Given the description of an element on the screen output the (x, y) to click on. 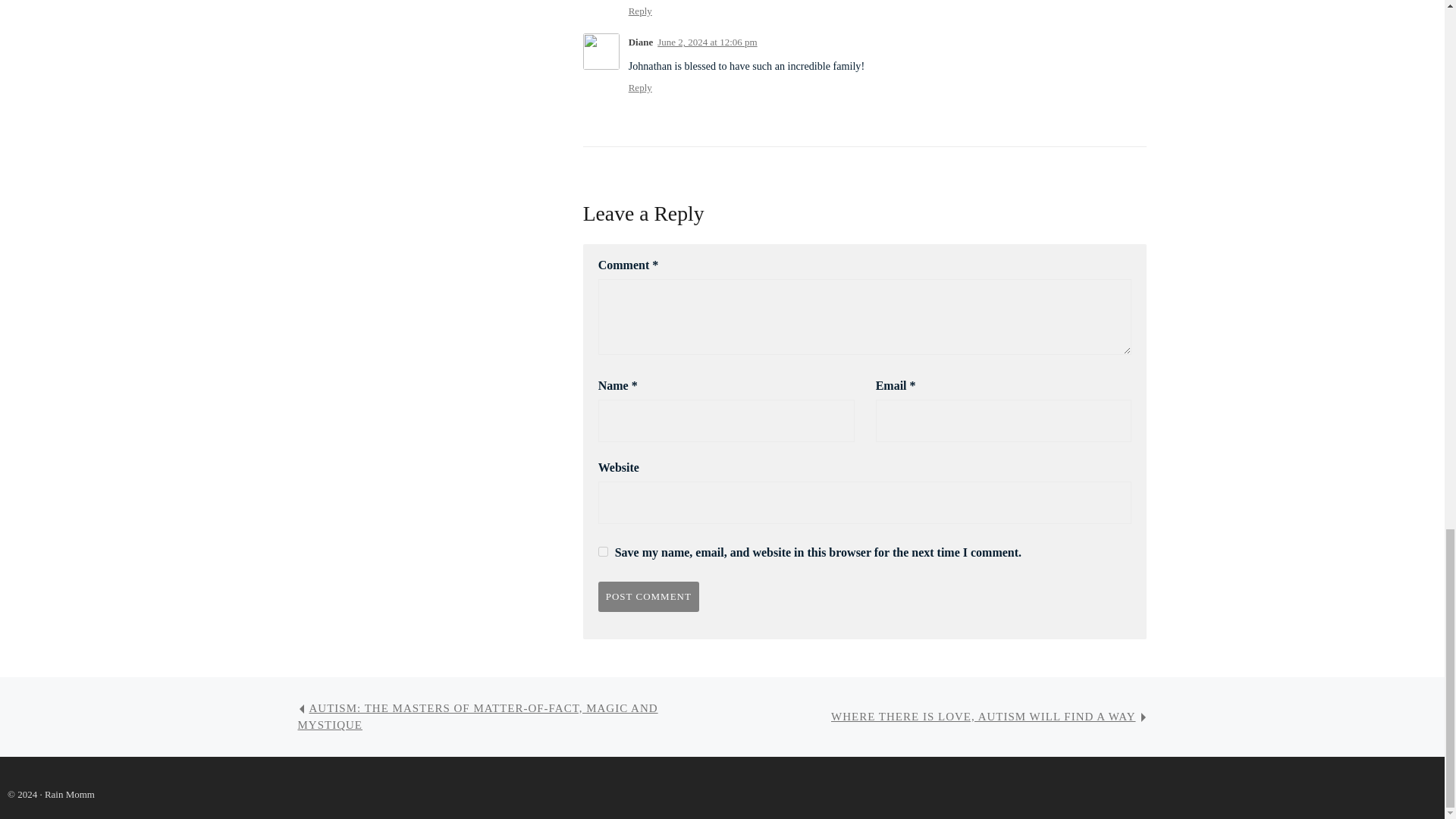
Reply (640, 10)
yes (603, 551)
June 2, 2024 at 12:06 pm (707, 41)
Post Comment (648, 596)
